Given the description of an element on the screen output the (x, y) to click on. 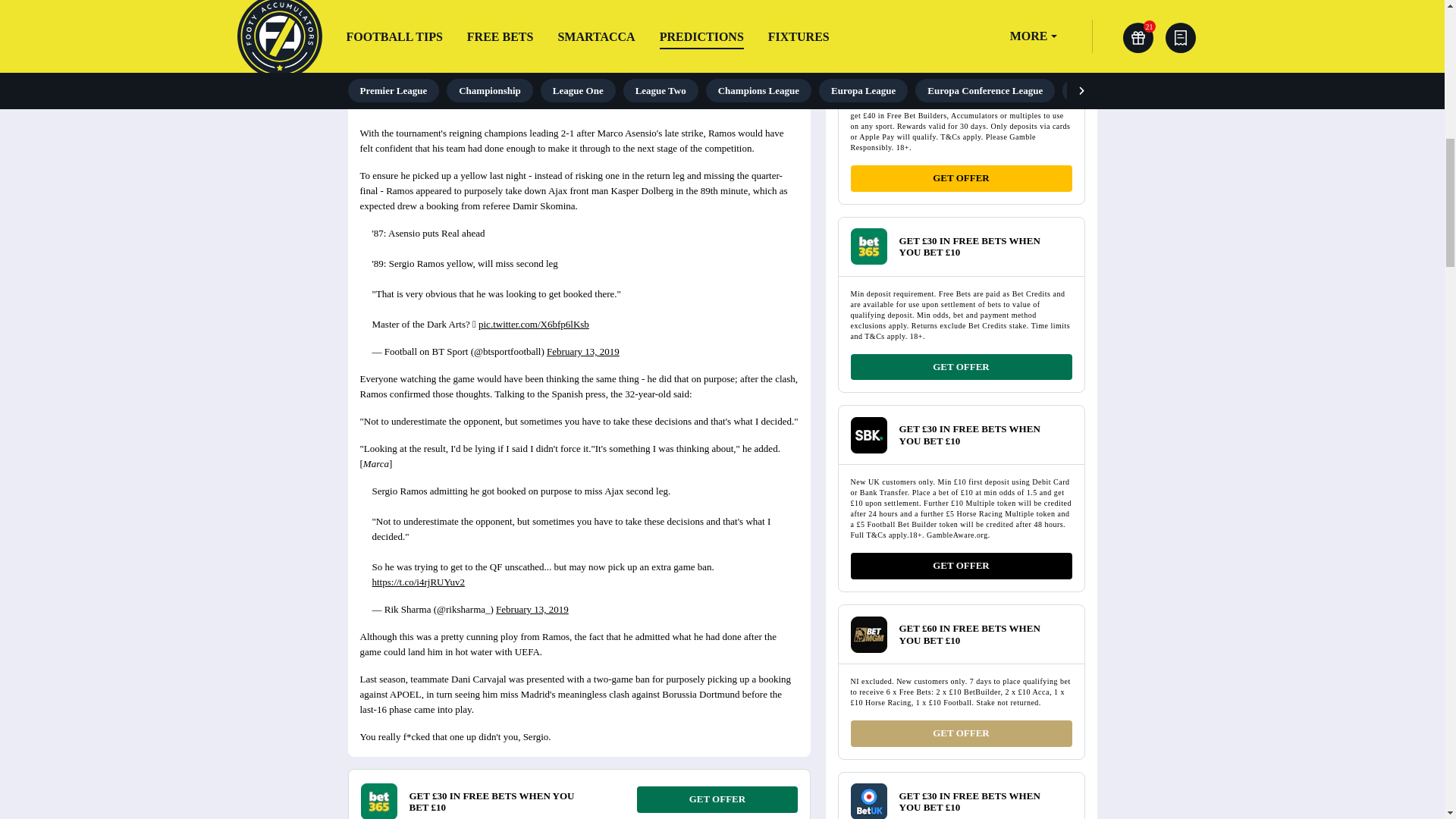
February 13, 2019 (583, 351)
